Given the description of an element on the screen output the (x, y) to click on. 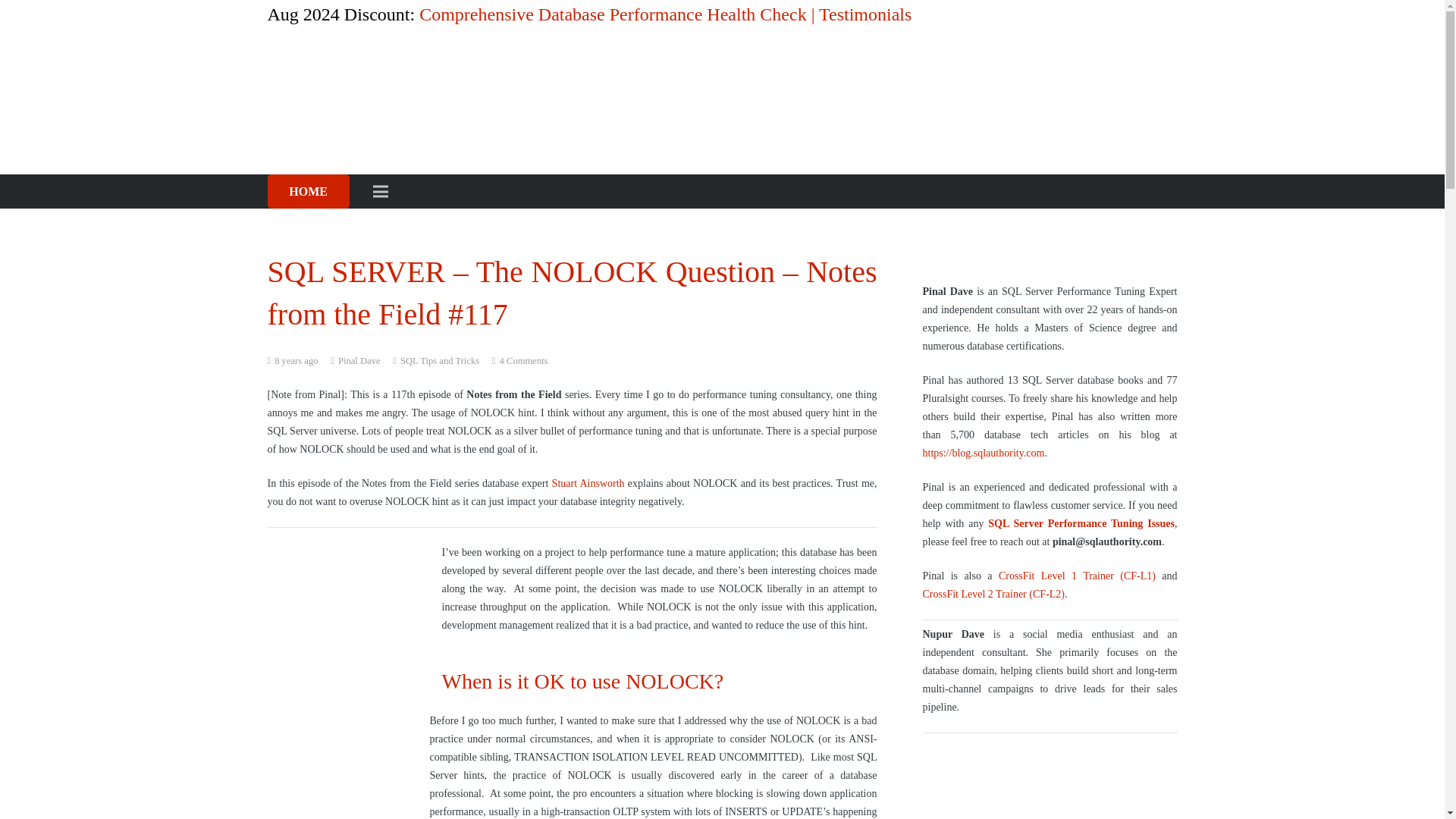
Stuart Ainsworth (587, 482)
Comprehensive Database Performance Health Check (612, 14)
HOME (307, 191)
4 Comments (523, 360)
Comprehensive Database Performance Health Check (1048, 791)
Pinal Dave (358, 361)
SQL Tips and Tricks (439, 360)
Testimonials (864, 14)
4 Comments (523, 360)
